Given the description of an element on the screen output the (x, y) to click on. 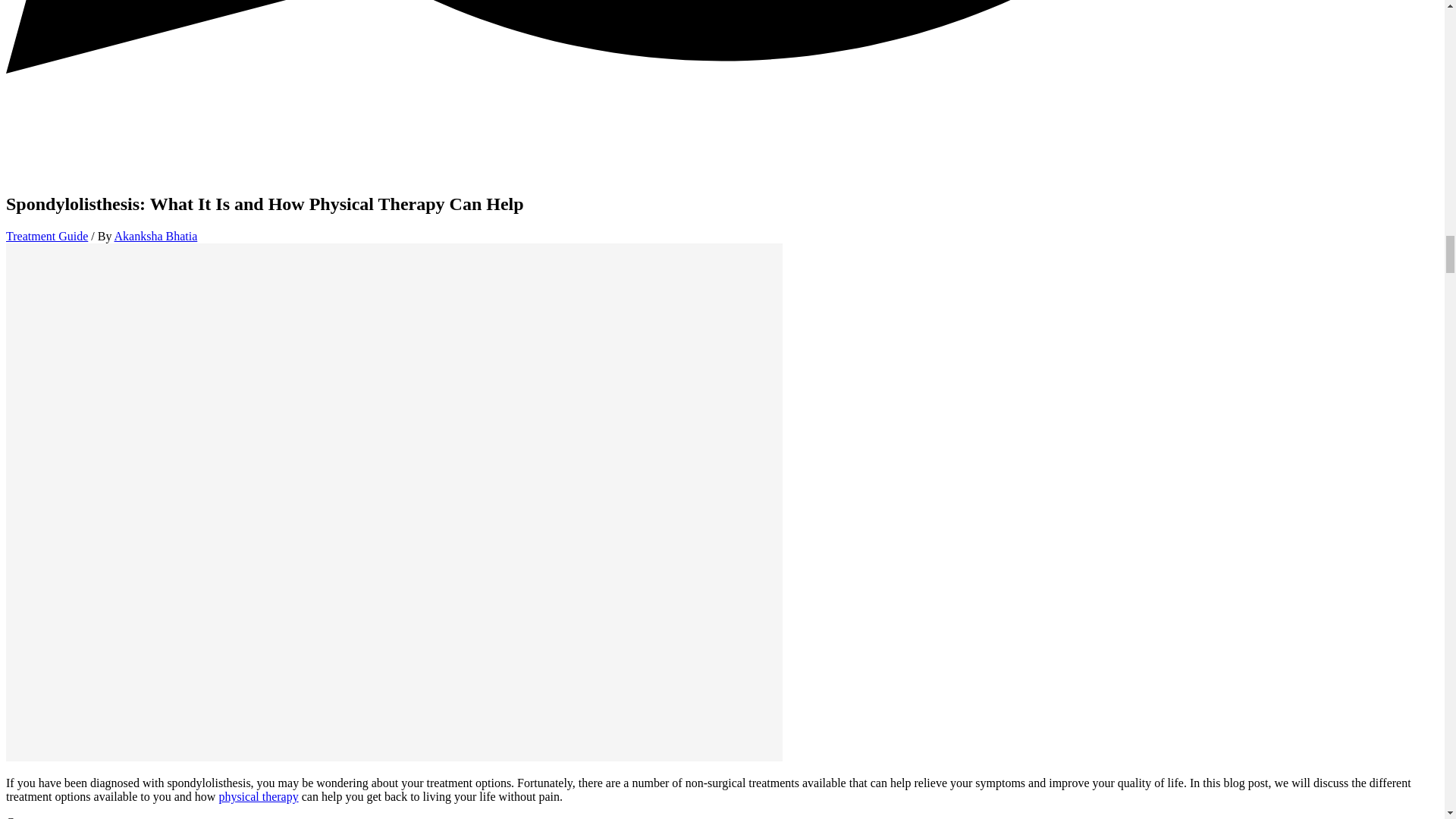
physical therapy (258, 796)
View all posts by Akanksha Bhatia (156, 236)
Akanksha Bhatia (156, 236)
Treatment Guide (46, 236)
physical therapy (258, 796)
